Given the description of an element on the screen output the (x, y) to click on. 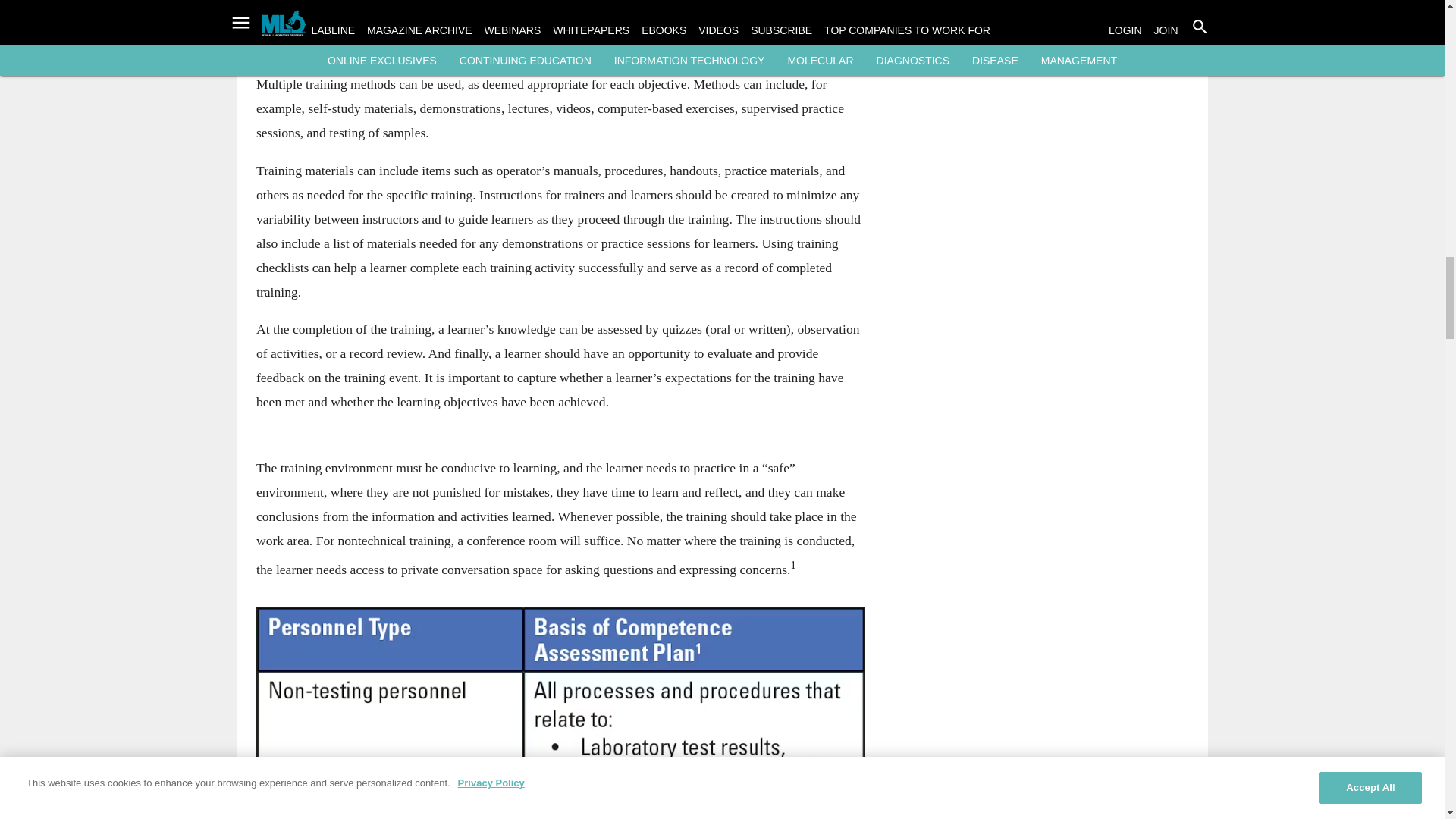
Mlo202106 Lab Man Table2 (560, 712)
